Given the description of an element on the screen output the (x, y) to click on. 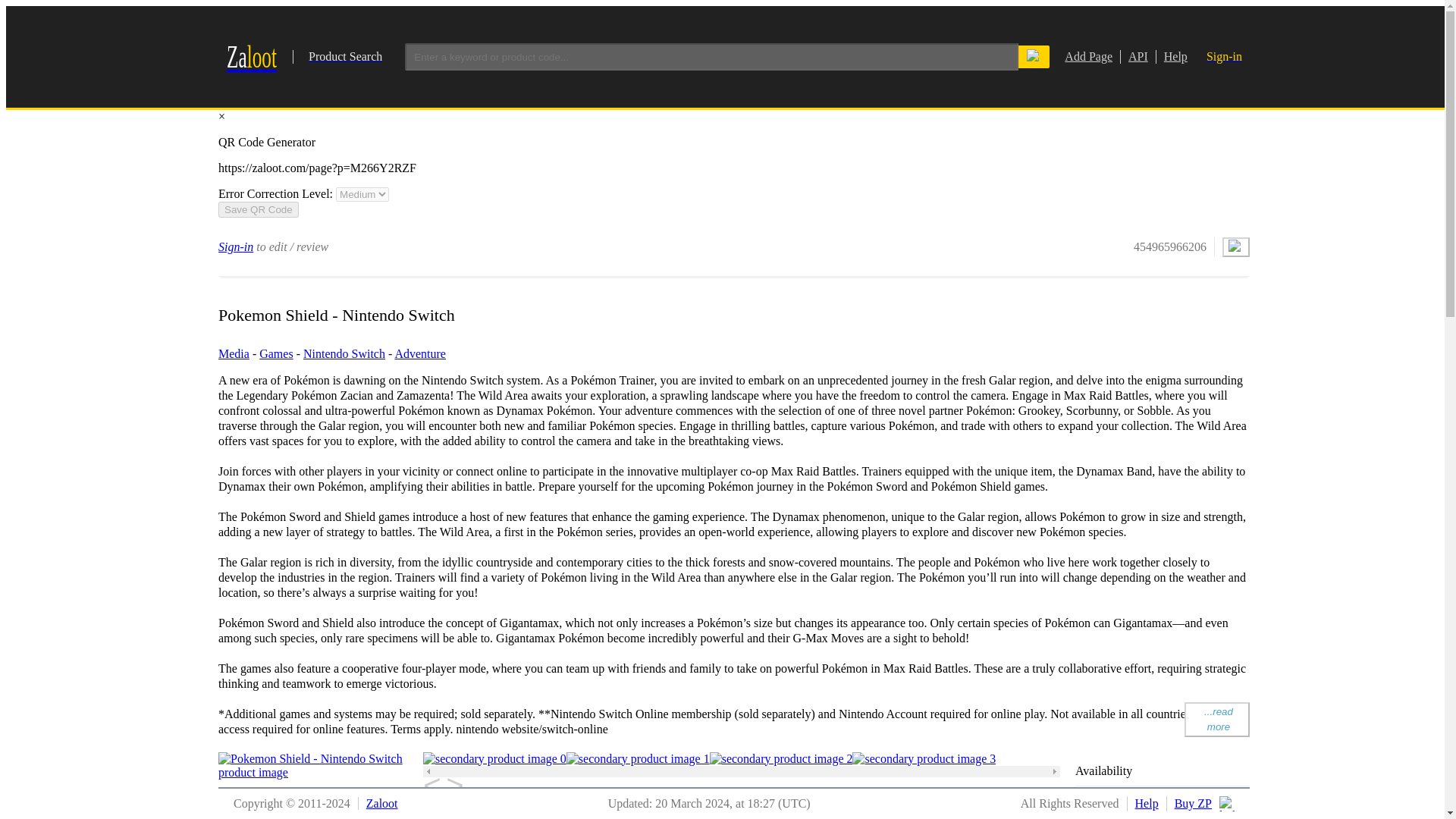
Trailer (458, 815)
Sign-in (1224, 56)
Adventure (419, 353)
Help (1172, 56)
Media (233, 353)
Sign-in (235, 245)
API (1133, 56)
Nintendo Switch (343, 353)
Add Page (1088, 56)
Save QR Code (303, 56)
...read more (258, 209)
Games (1217, 719)
